Given the description of an element on the screen output the (x, y) to click on. 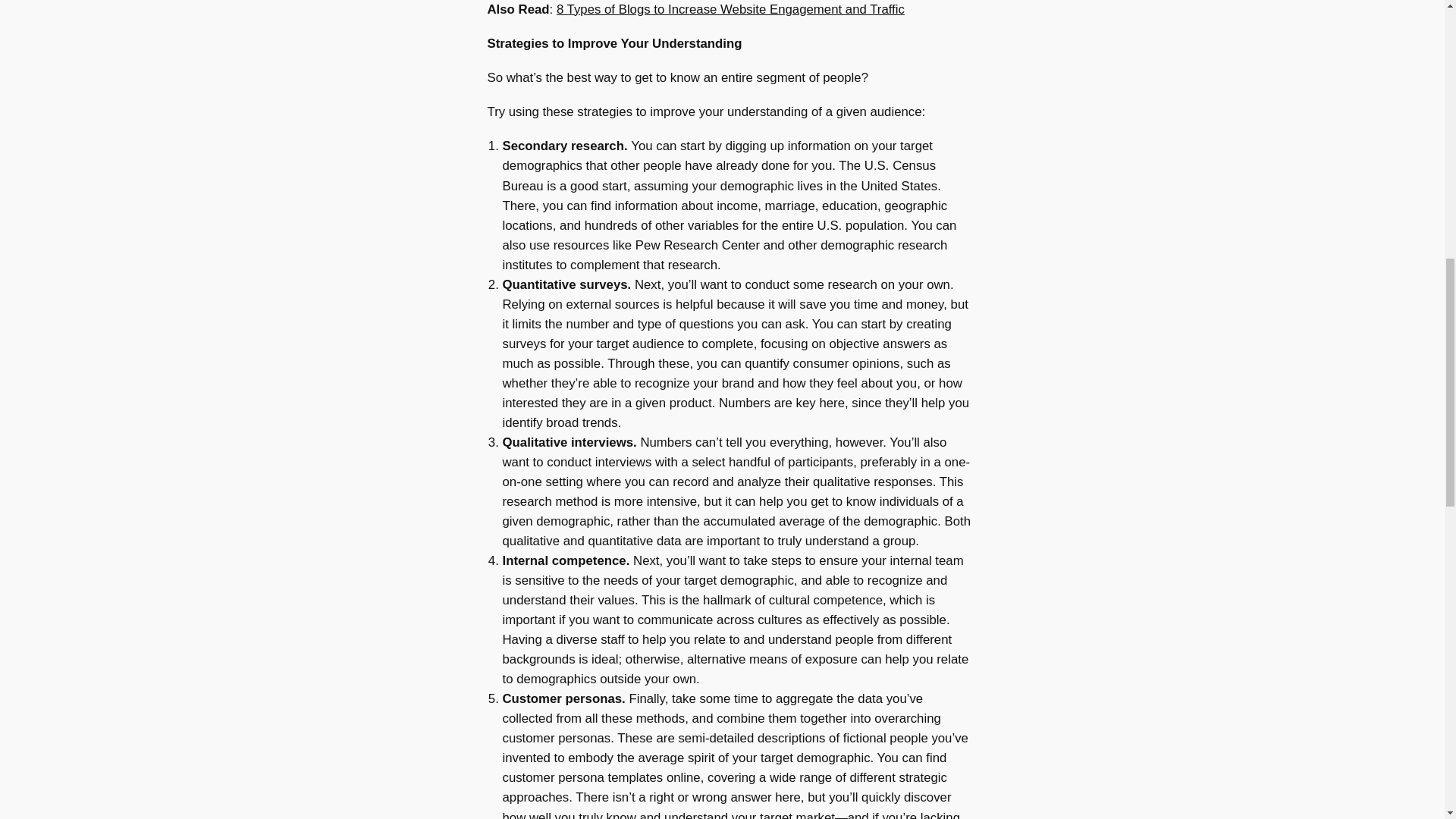
8 Types of Blogs to Increase Website Engagement and Traffic (730, 9)
